Given the description of an element on the screen output the (x, y) to click on. 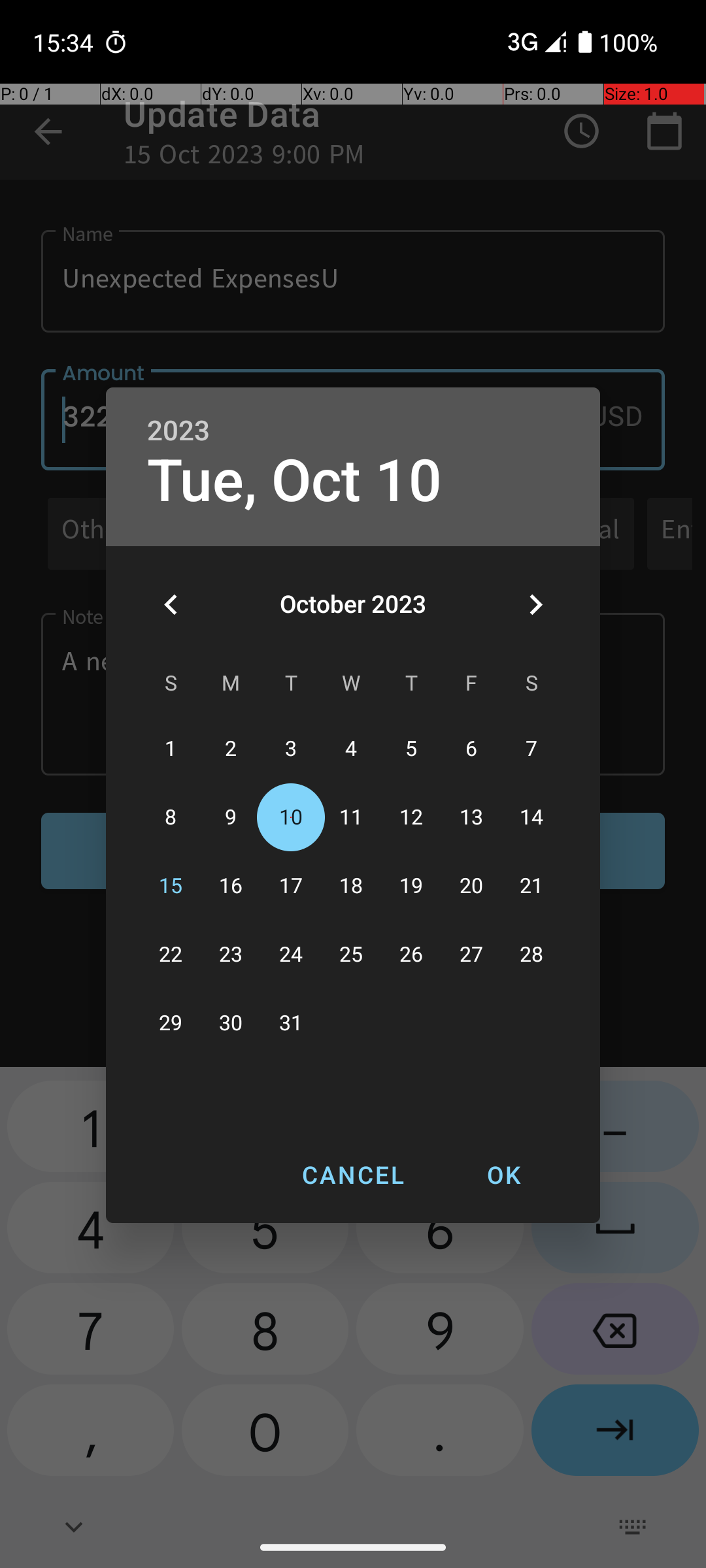
Tue, Oct 10 Element type: android.widget.TextView (294, 480)
